Given the description of an element on the screen output the (x, y) to click on. 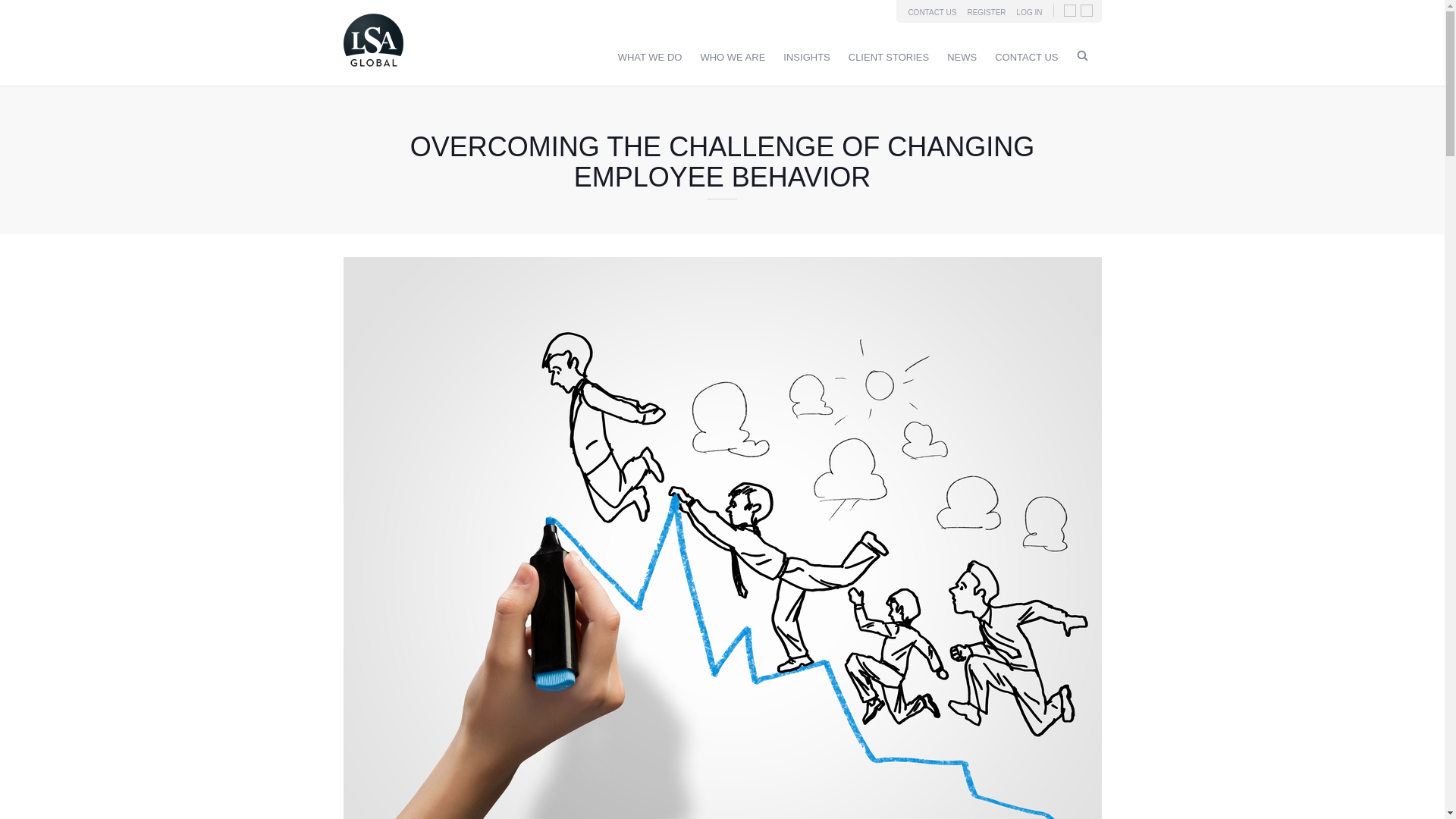
Contact Us (1026, 57)
CLIENT STORIES (888, 57)
INSIGHTS (806, 57)
REGISTER (986, 12)
Insights (806, 57)
Client Stories (888, 57)
CONTACT US (1026, 57)
CONTACT US (931, 12)
News (961, 57)
Who We Are (732, 57)
